Given the description of an element on the screen output the (x, y) to click on. 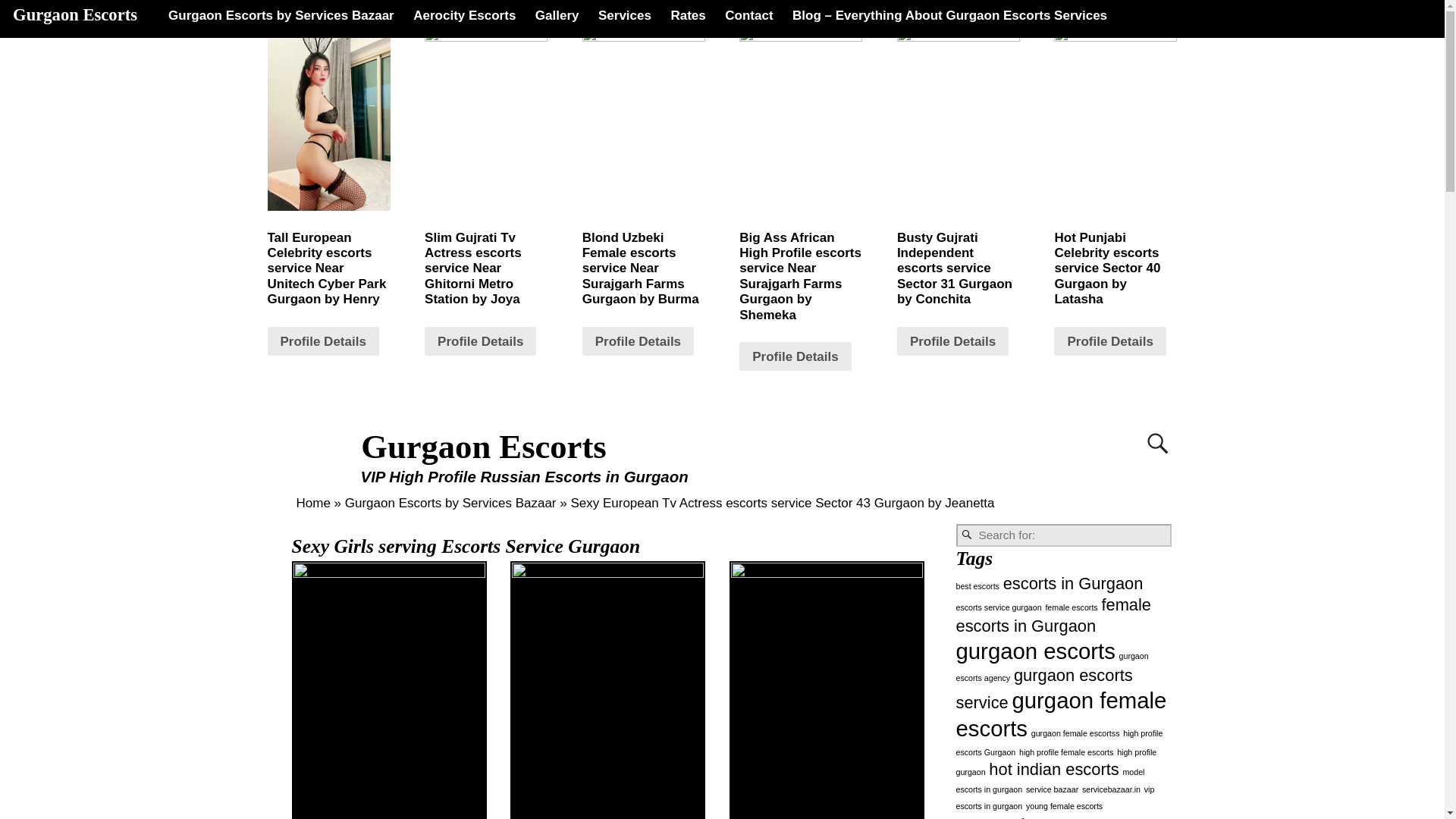
Gurgaon Escorts (483, 446)
Gurgaon Escorts by Services Bazaar (280, 15)
Gurgaon Escorts by Services Bazaar (450, 503)
Profile Details (952, 340)
Profile Details (638, 340)
Gurgaon Escorts (74, 14)
Gallery (556, 15)
Aerocity Escorts (464, 15)
Rates (688, 15)
Profile Details (480, 340)
